Given the description of an element on the screen output the (x, y) to click on. 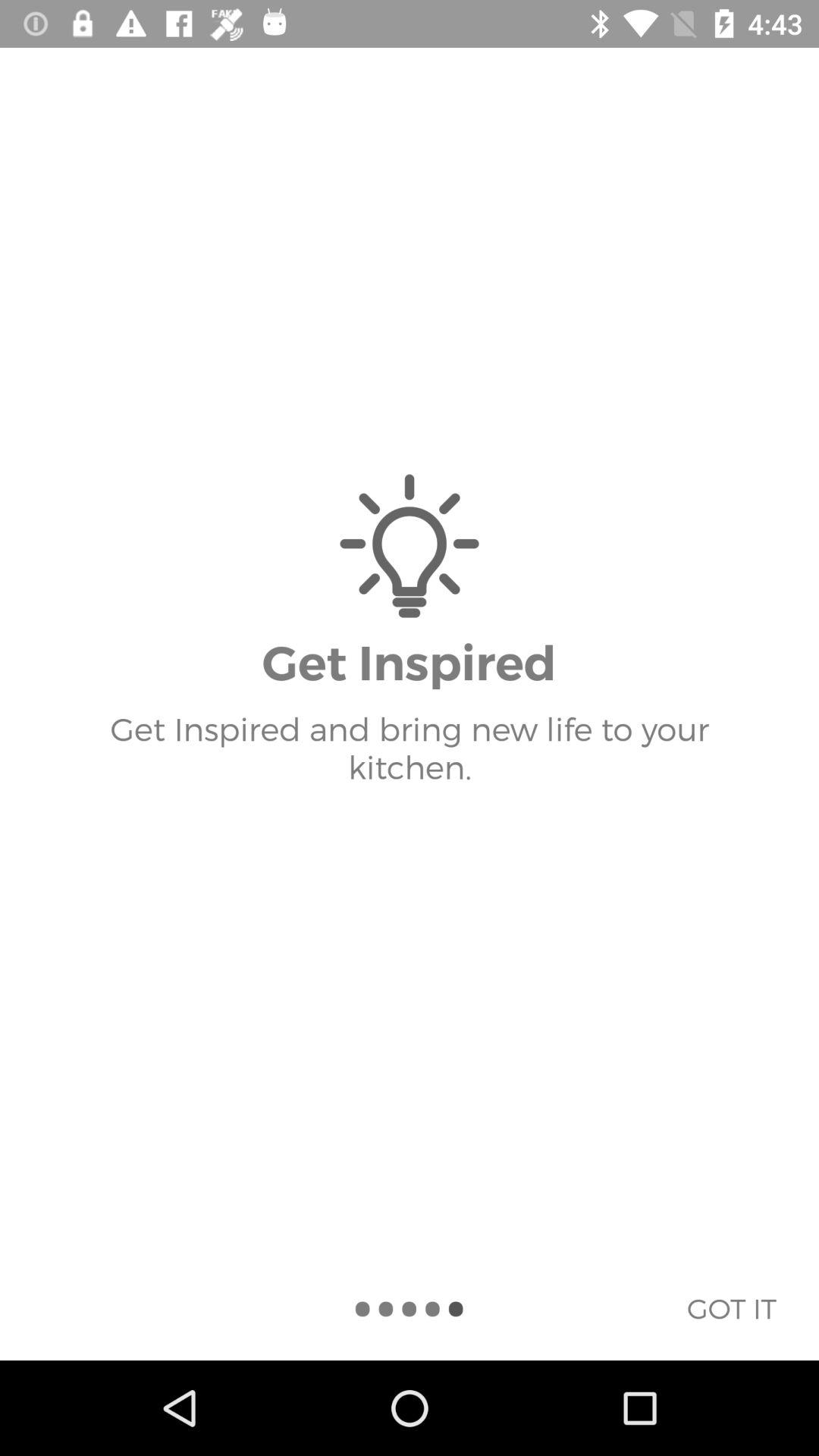
tap got it at the bottom right corner (731, 1308)
